Given the description of an element on the screen output the (x, y) to click on. 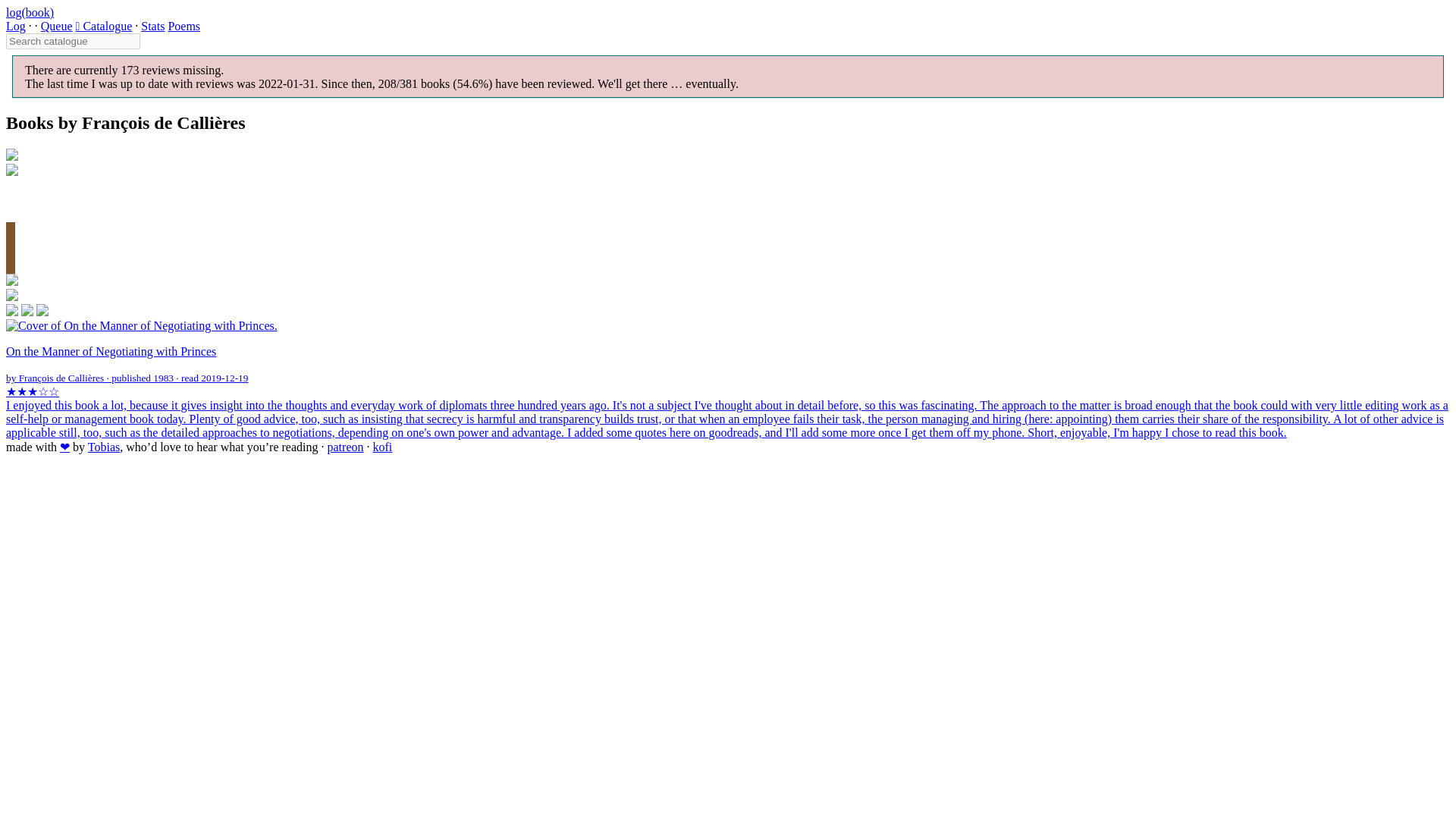
Poems (183, 25)
Stats (152, 25)
Queue (56, 25)
Log (15, 25)
